Given the description of an element on the screen output the (x, y) to click on. 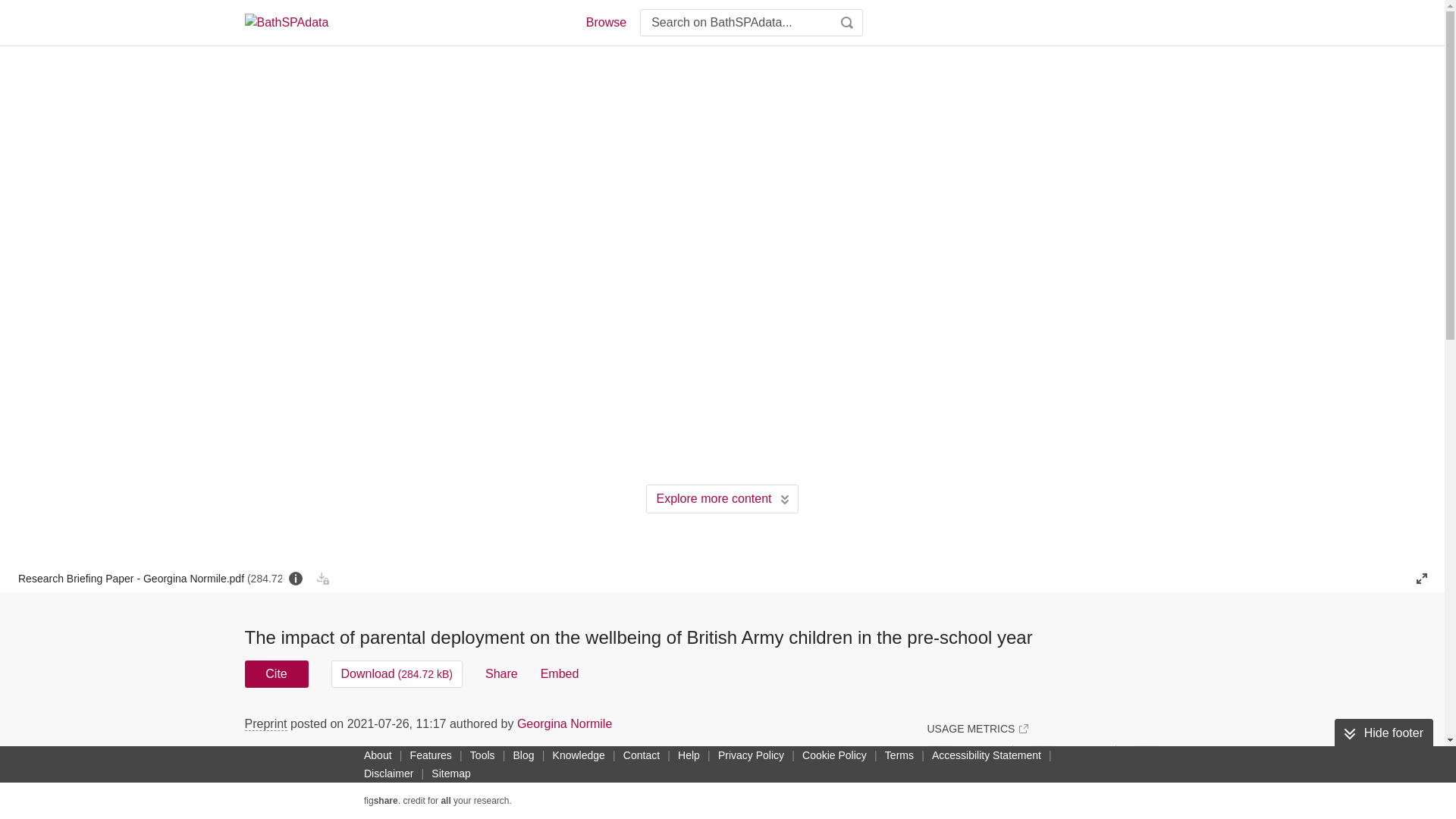
Tools (482, 755)
Georgina Normile (563, 723)
USAGE METRICS (976, 728)
Embed (559, 673)
Features (431, 755)
Research Briefing Paper - Georgina Normile.pdf (149, 578)
Hide footer (1383, 733)
Browse (605, 22)
Share (501, 673)
About (377, 755)
Cite (275, 673)
Explore more content (721, 498)
